Given the description of an element on the screen output the (x, y) to click on. 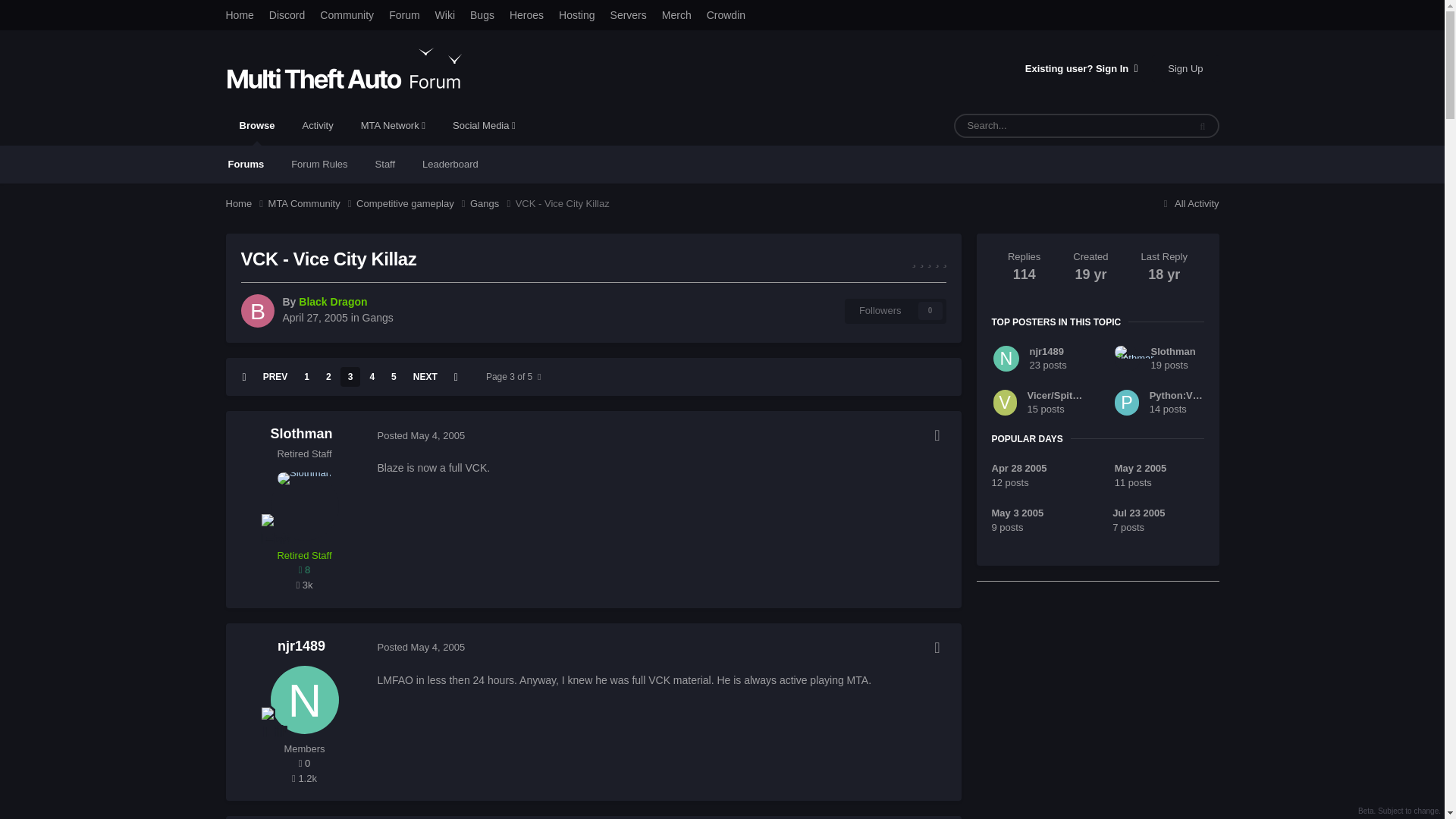
Community (347, 14)
Previous page (275, 376)
Forum (403, 14)
Go to Slothman's profile (303, 506)
Home (246, 203)
Go to Black Dragon's profile (258, 310)
Home (240, 14)
Next page (425, 376)
Existing user? Sign In   (1081, 68)
Forum Rules (319, 164)
Wiki (445, 14)
Staff (385, 164)
Bugs (482, 14)
Merch (675, 14)
Sign Up (1184, 67)
